Given the description of an element on the screen output the (x, y) to click on. 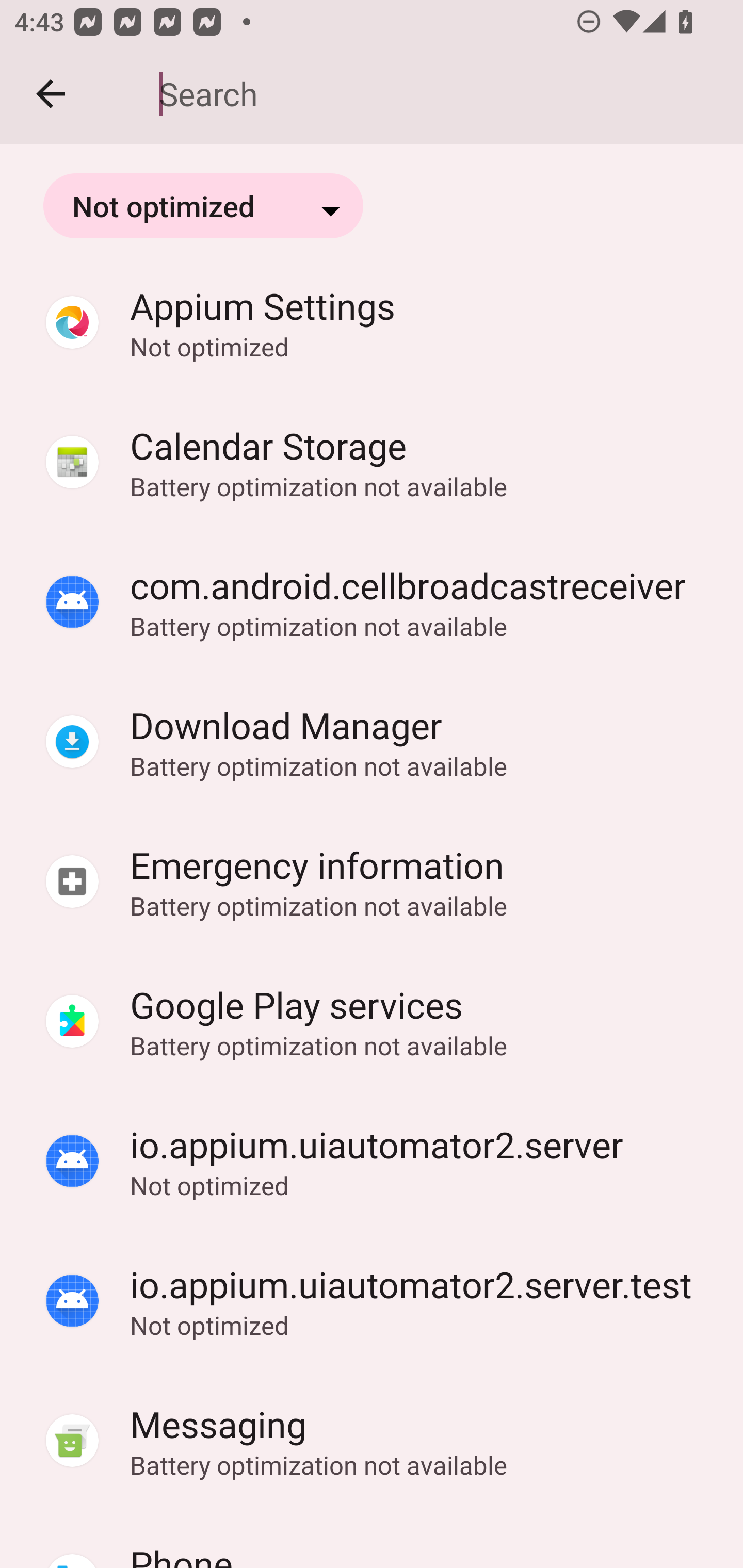
Collapse (50, 93)
Search (436, 94)
Not optimized (203, 205)
Appium Settings Appium Settings Not optimized (371, 322)
